Given the description of an element on the screen output the (x, y) to click on. 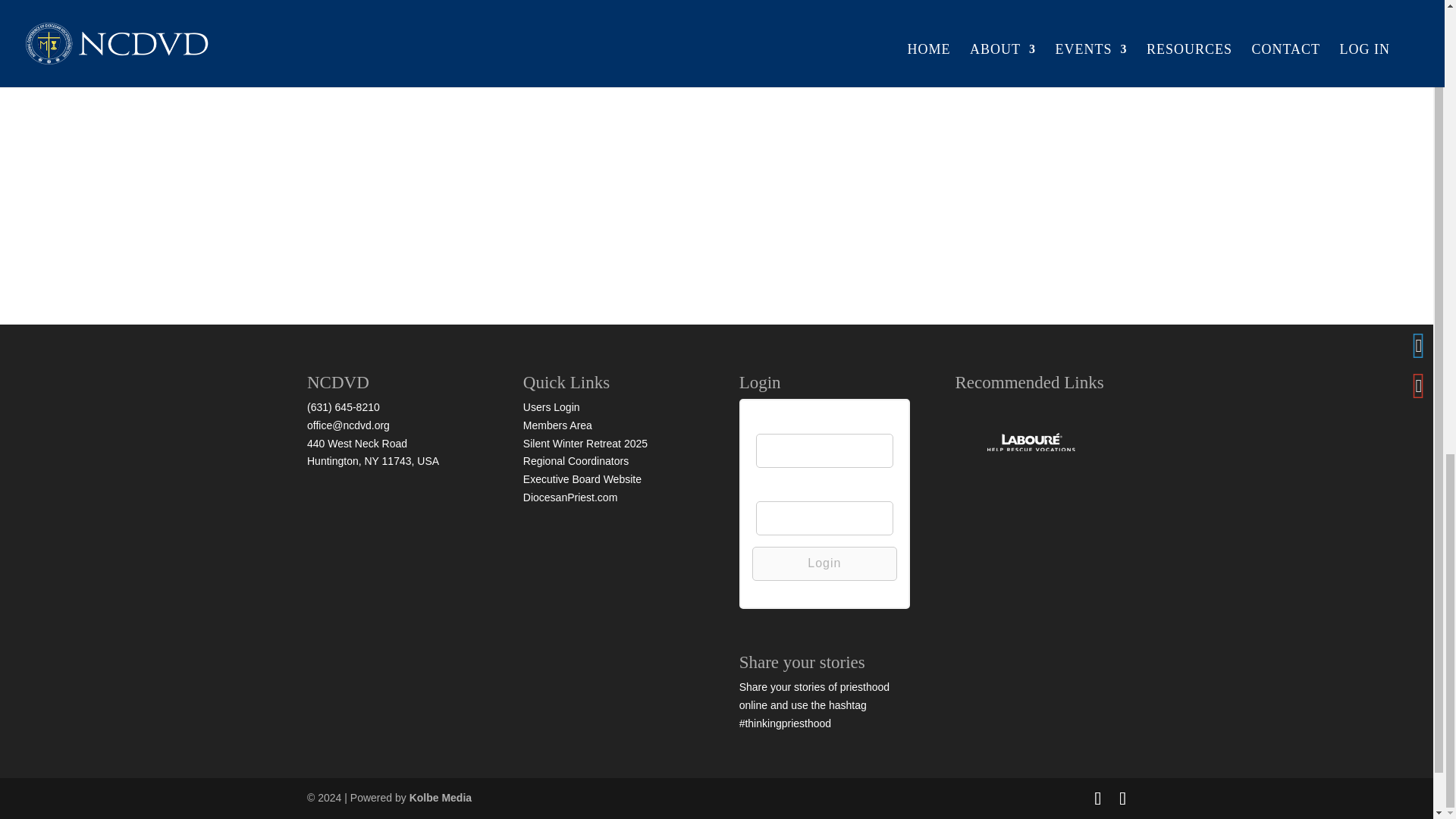
DiocesanPriest.com (569, 497)
Members Area (557, 425)
Logo-white-lg-Registered (1029, 443)
Please enter username (824, 450)
Executive Board Website (582, 479)
Silent Winter Retreat 2025 (584, 443)
Regional Coordinators (575, 460)
Login (824, 563)
Login (824, 563)
